Given the description of an element on the screen output the (x, y) to click on. 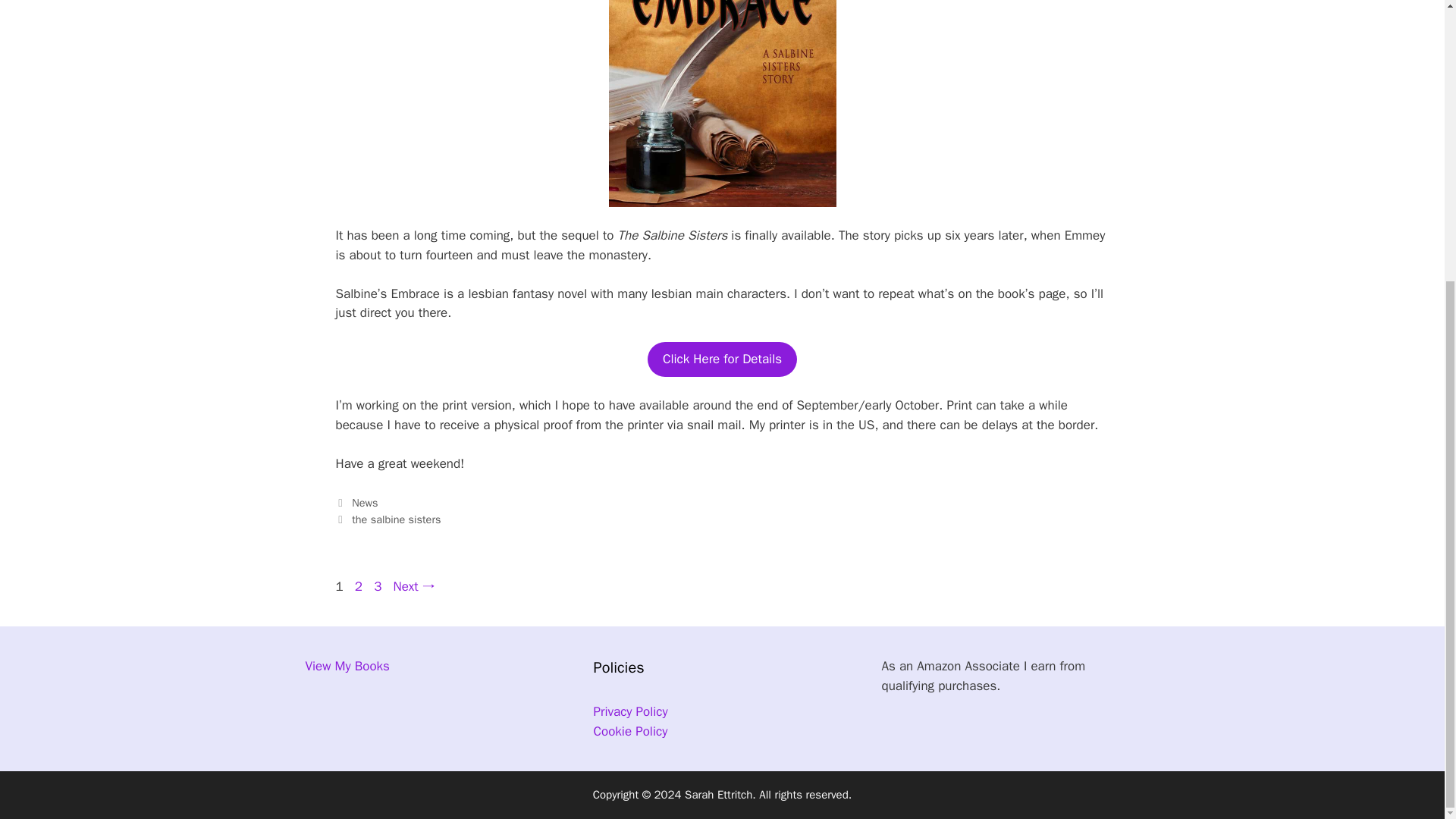
the salbine sisters (396, 519)
Click Here for Details (721, 359)
Privacy Policy (358, 586)
Cookie Policy (629, 711)
View My Books (629, 731)
News (346, 666)
